Given the description of an element on the screen output the (x, y) to click on. 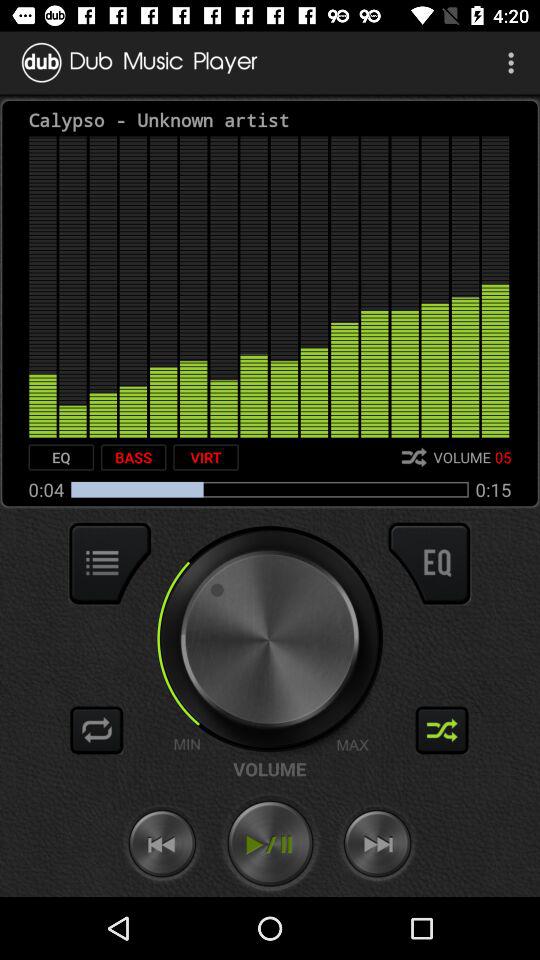
press item to the left of the  virt  item (133, 457)
